Given the description of an element on the screen output the (x, y) to click on. 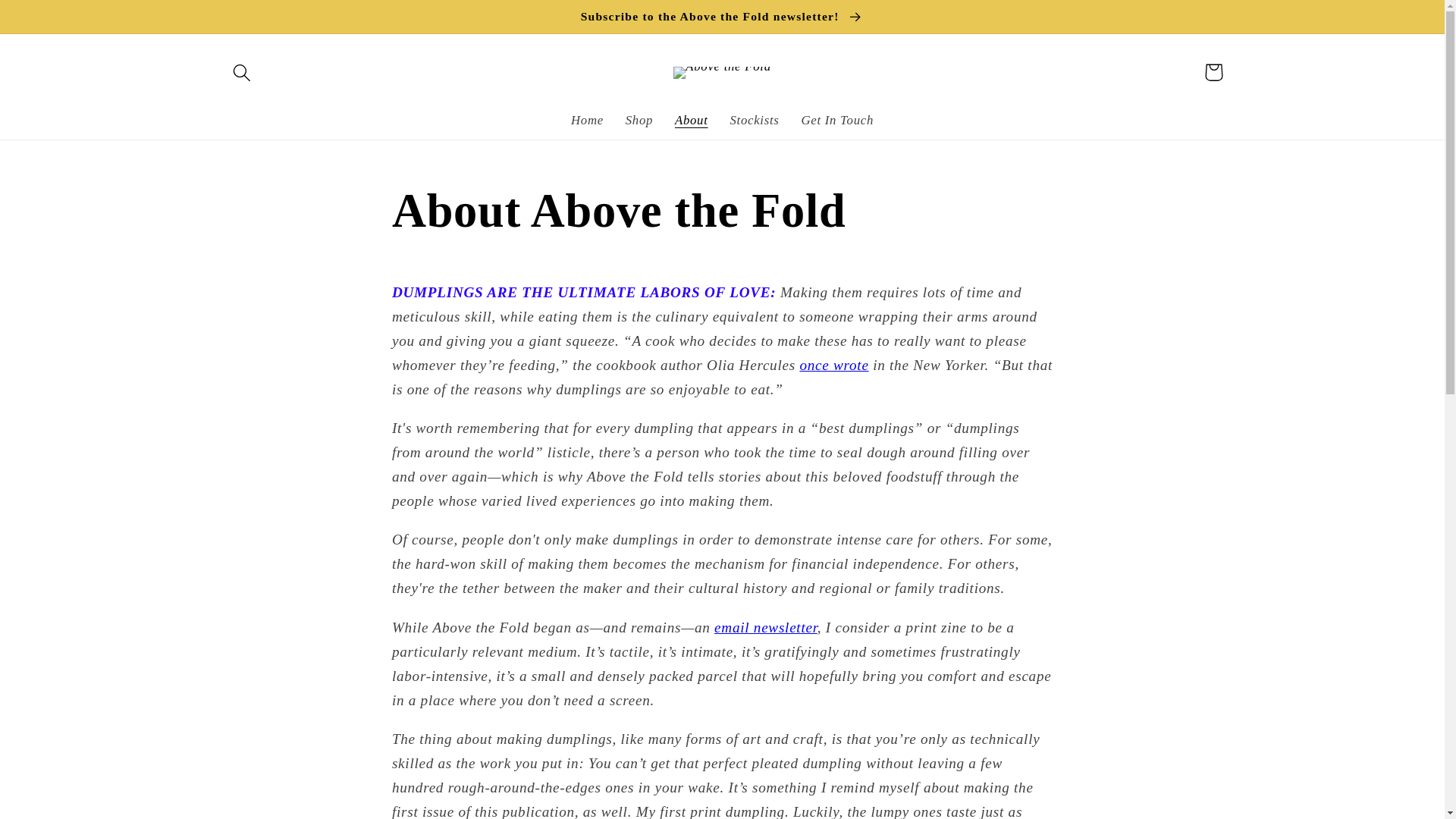
Home (587, 121)
once wrote (833, 365)
Shop (638, 121)
email newsletter (765, 627)
Skip to content (55, 20)
Stockists (754, 121)
Get In Touch (836, 121)
Cart (1213, 72)
About (691, 121)
